Given the description of an element on the screen output the (x, y) to click on. 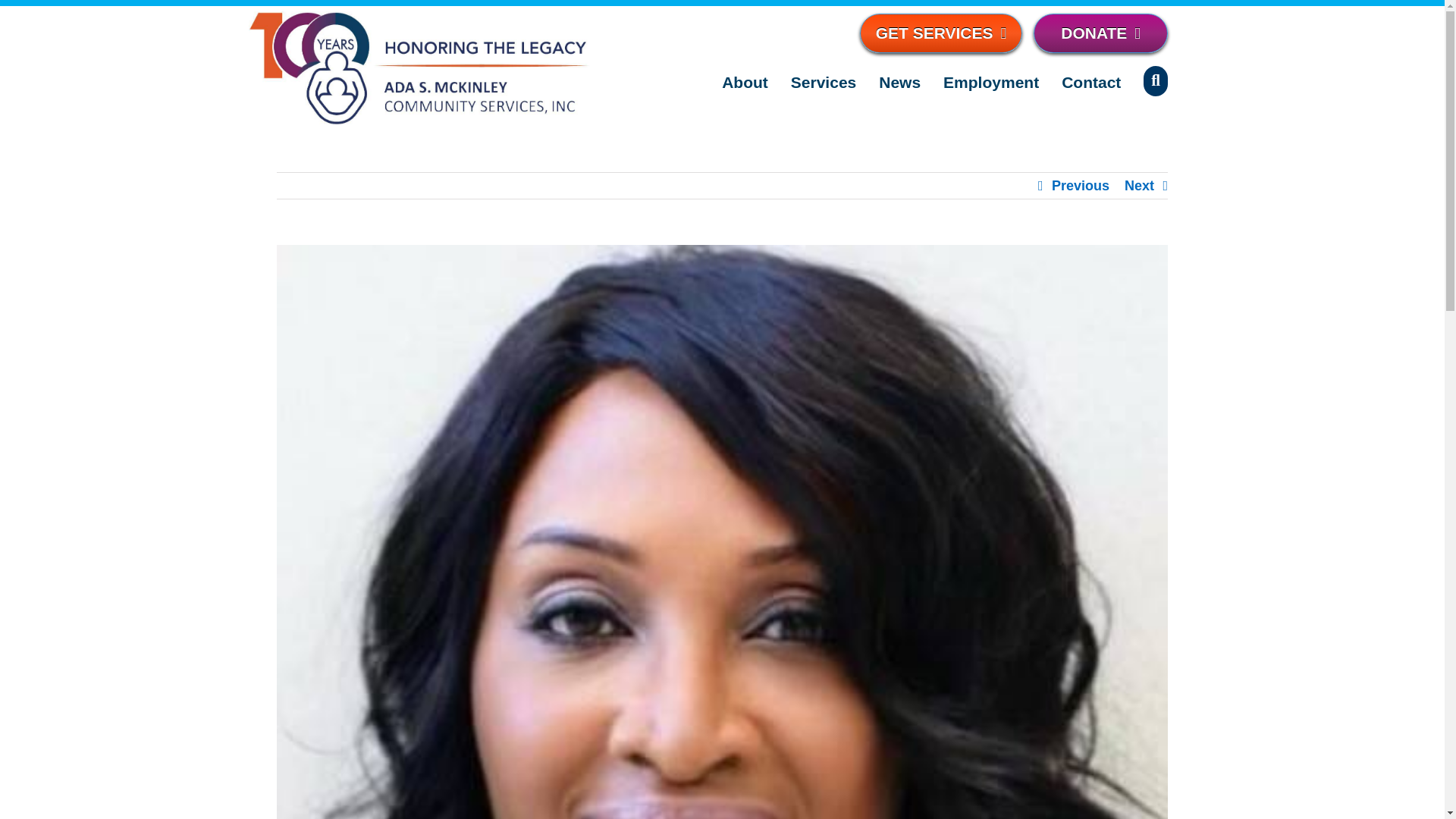
DONATE (1100, 33)
Contact (1091, 82)
Services (823, 82)
Employment (991, 82)
Next (1139, 185)
Previous (1080, 185)
GET SERVICES (941, 33)
About (745, 82)
